Given the description of an element on the screen output the (x, y) to click on. 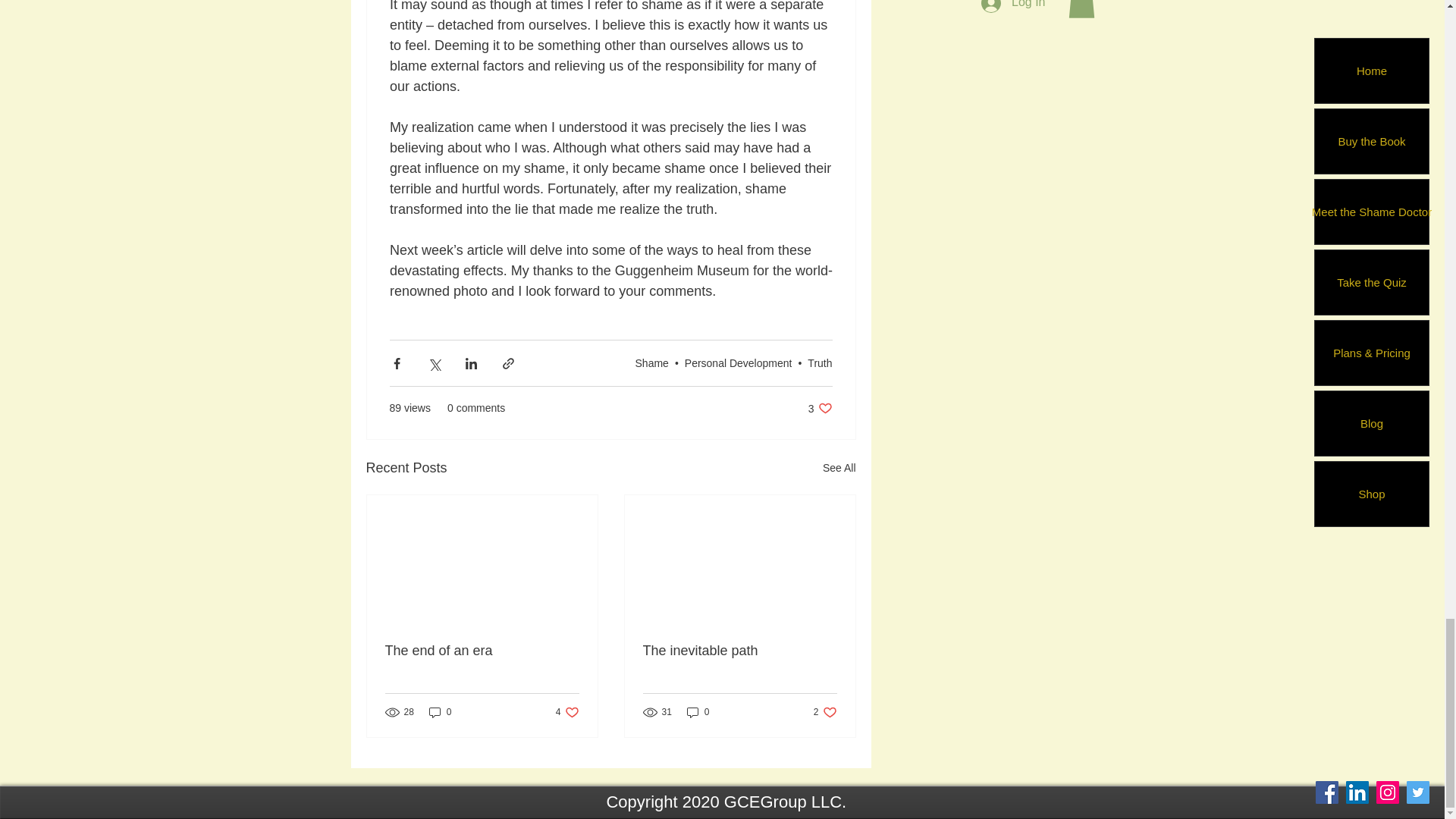
0 (567, 712)
The end of an era (698, 712)
Shame (825, 712)
See All (482, 650)
Truth (651, 363)
Personal Development (839, 468)
The inevitable path (819, 363)
0 (738, 363)
